Given the description of an element on the screen output the (x, y) to click on. 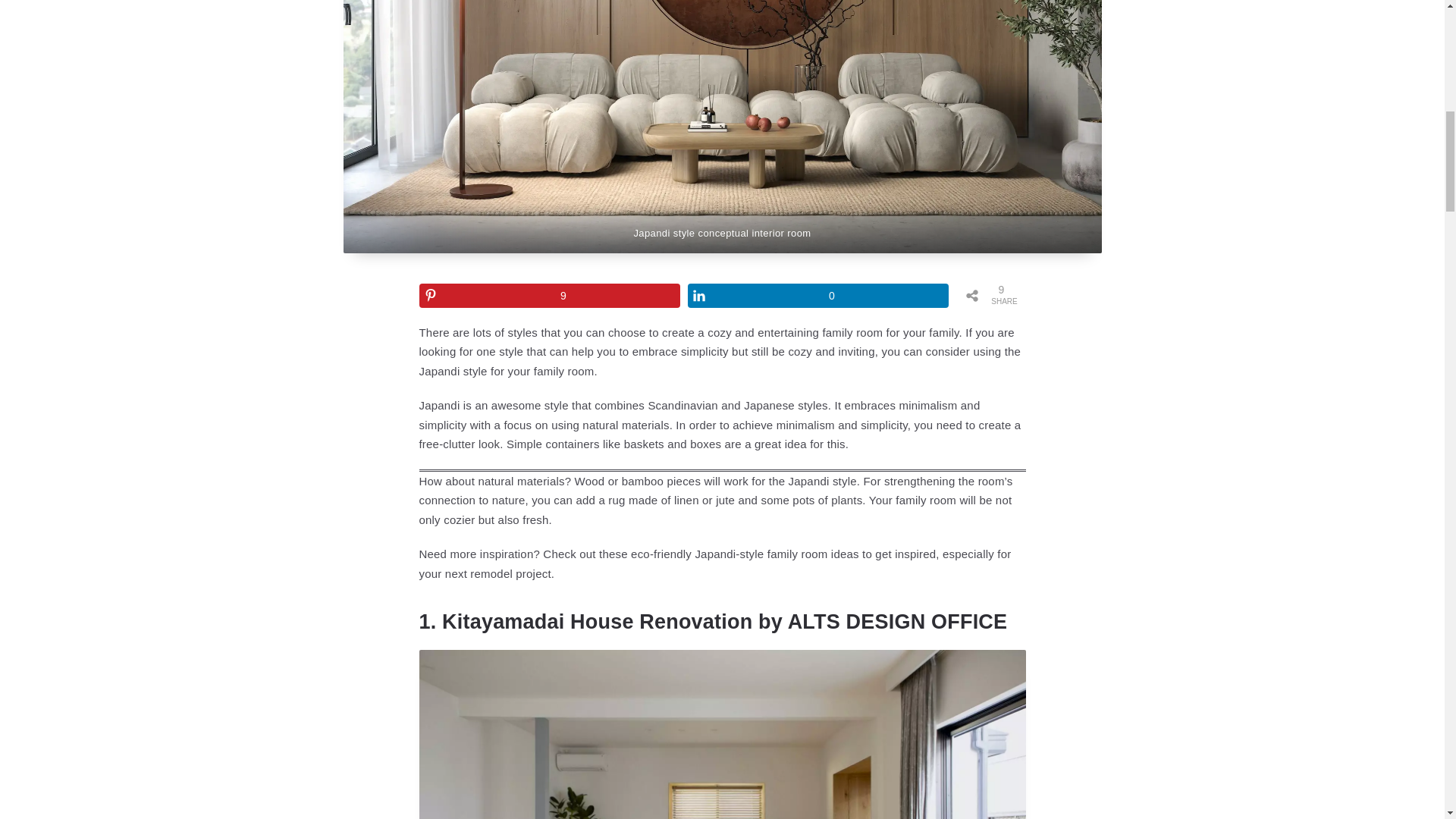
Share on Pinterest (549, 295)
Share on LinkedIn (817, 295)
9 (549, 295)
